Given the description of an element on the screen output the (x, y) to click on. 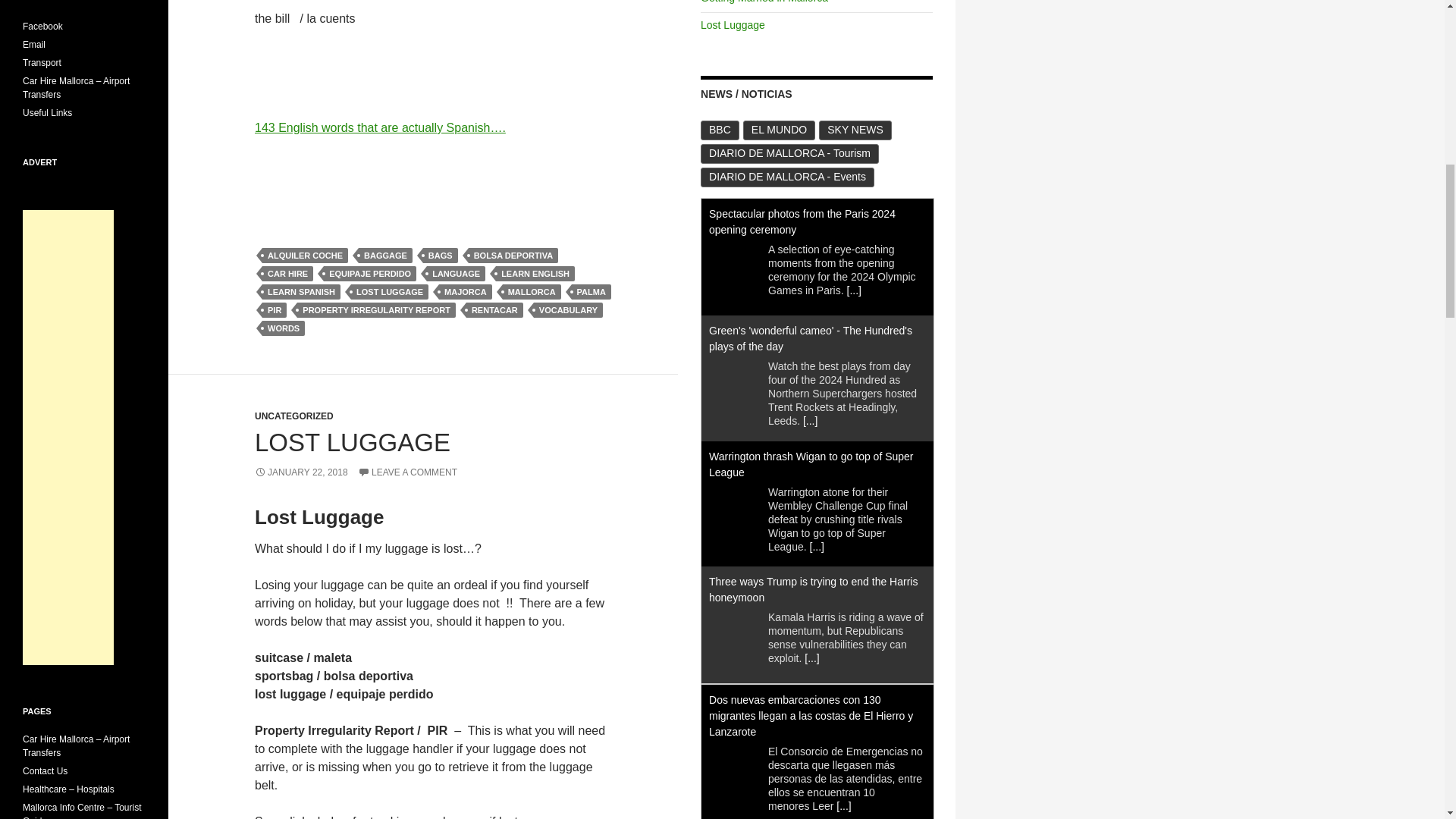
BAGS (440, 255)
RENTACAR (493, 309)
Green's 'wonderful cameo' - The Hundred's plays of the day (810, 338)
LEARN ENGLISH (535, 273)
EQUIPAJE PERDIDO (369, 273)
LEAVE A COMMENT (407, 471)
Read more (816, 545)
Spectacular photos from the Paris 2024 opening ceremony (802, 221)
LOST LUGGAGE (389, 291)
VOCABULARY (568, 309)
LOST LUGGAGE (351, 442)
WORDS (283, 328)
MAJORCA (465, 291)
Read more (811, 657)
